Given the description of an element on the screen output the (x, y) to click on. 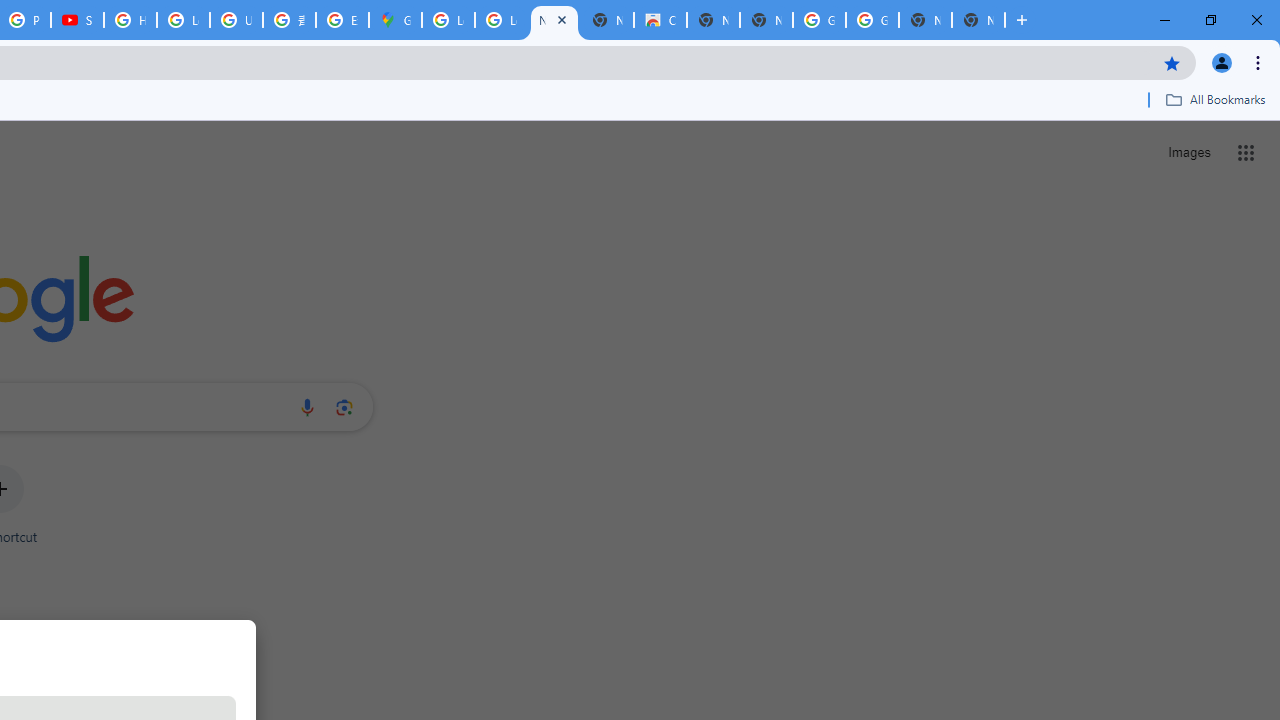
How Chrome protects your passwords - Google Chrome Help (130, 20)
Google Maps (395, 20)
All Bookmarks (1215, 99)
